Given the description of an element on the screen output the (x, y) to click on. 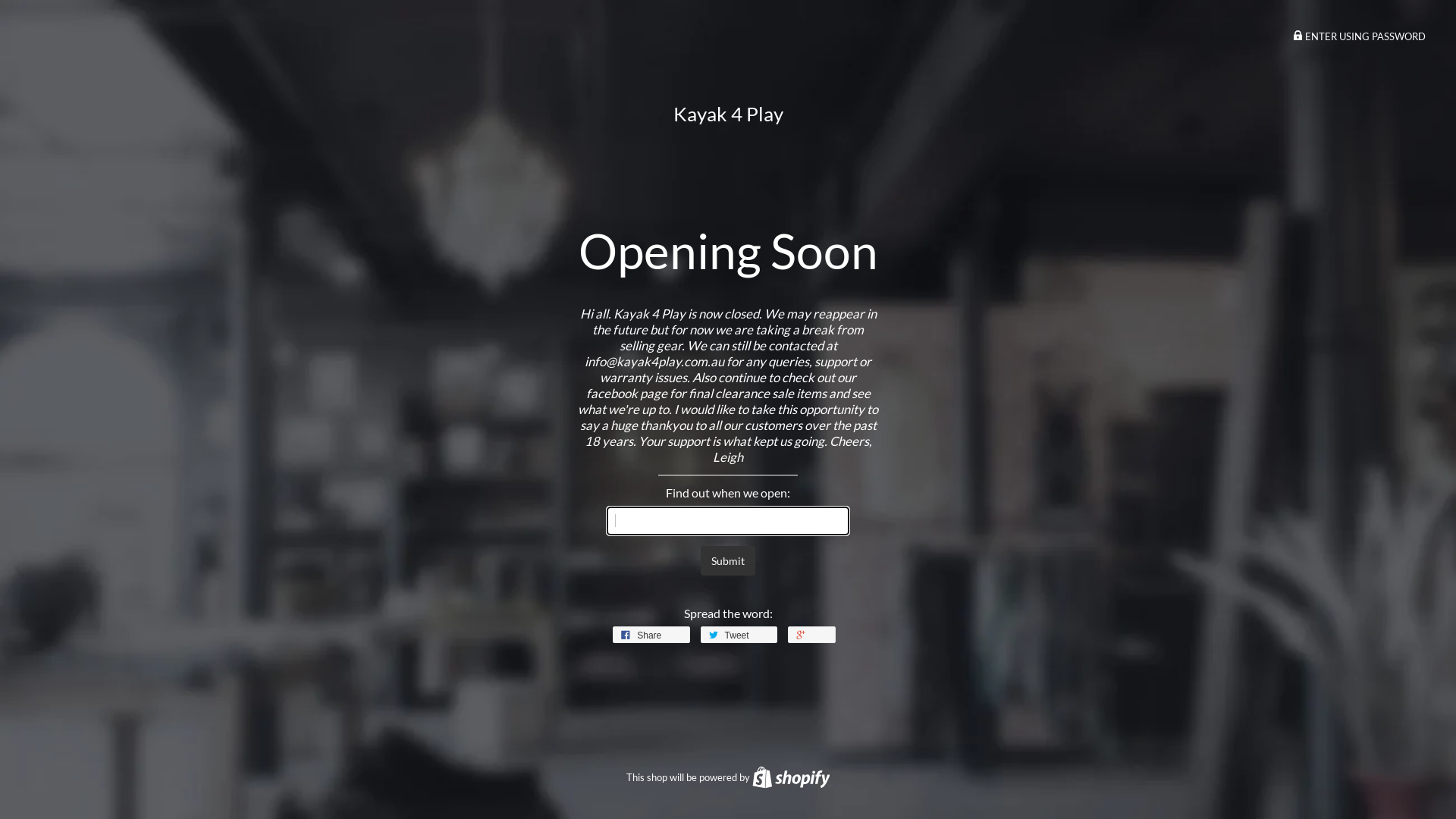
Shopify logo
Shopify Element type: text (791, 777)
Share Element type: text (651, 634)
Submit Element type: text (727, 560)
LOCK ICON ENTER USING PASSWORD Element type: text (1358, 36)
Tweet Element type: text (738, 634)
